Given the description of an element on the screen output the (x, y) to click on. 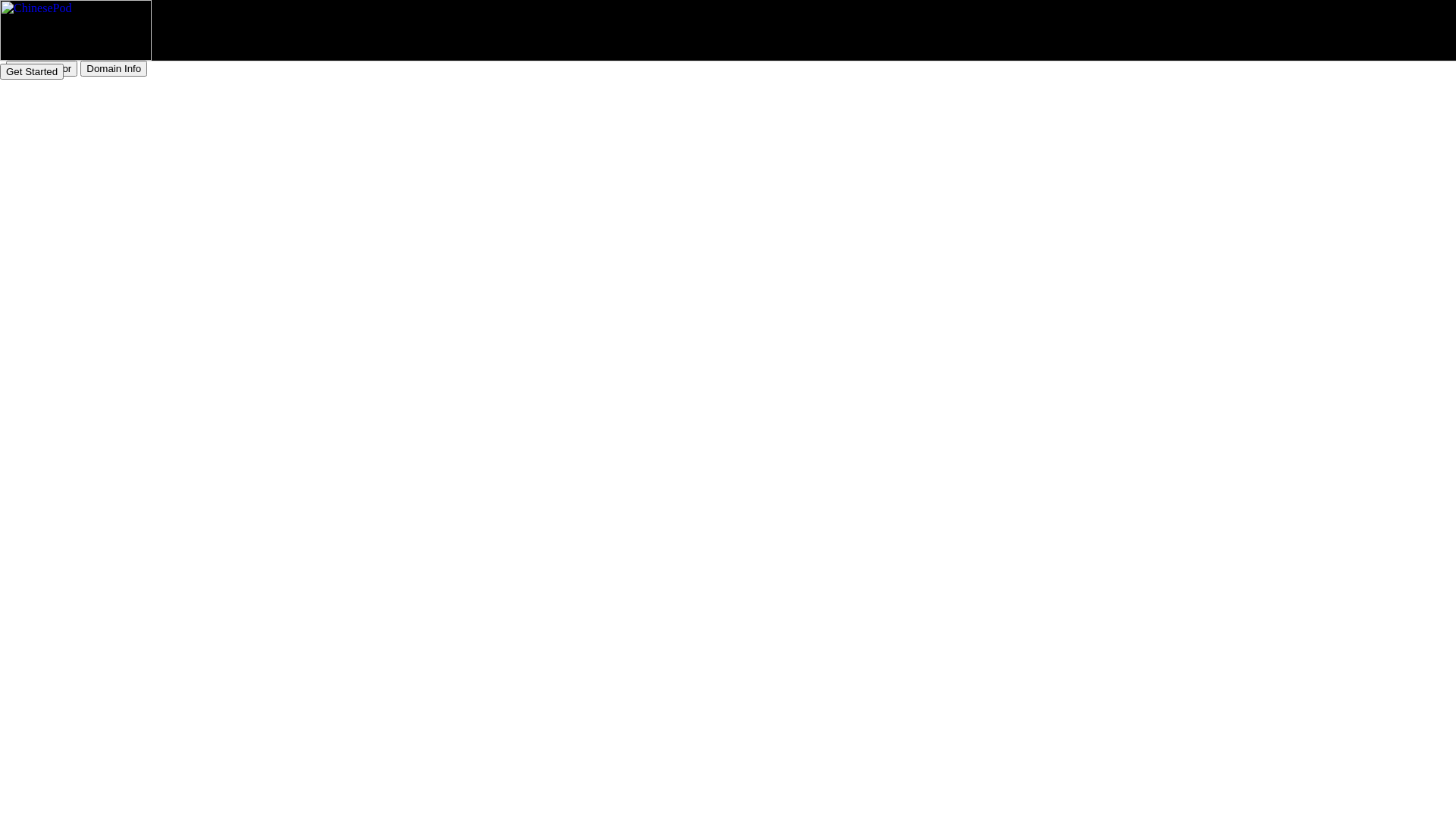
Get Started Element type: text (31, 71)
Domain Info Element type: text (113, 68)
Chinesepod Element type: hover (75, 56)
Visit Sponsor Element type: text (41, 68)
ChinesePod Element type: hover (75, 30)
